Given the description of an element on the screen output the (x, y) to click on. 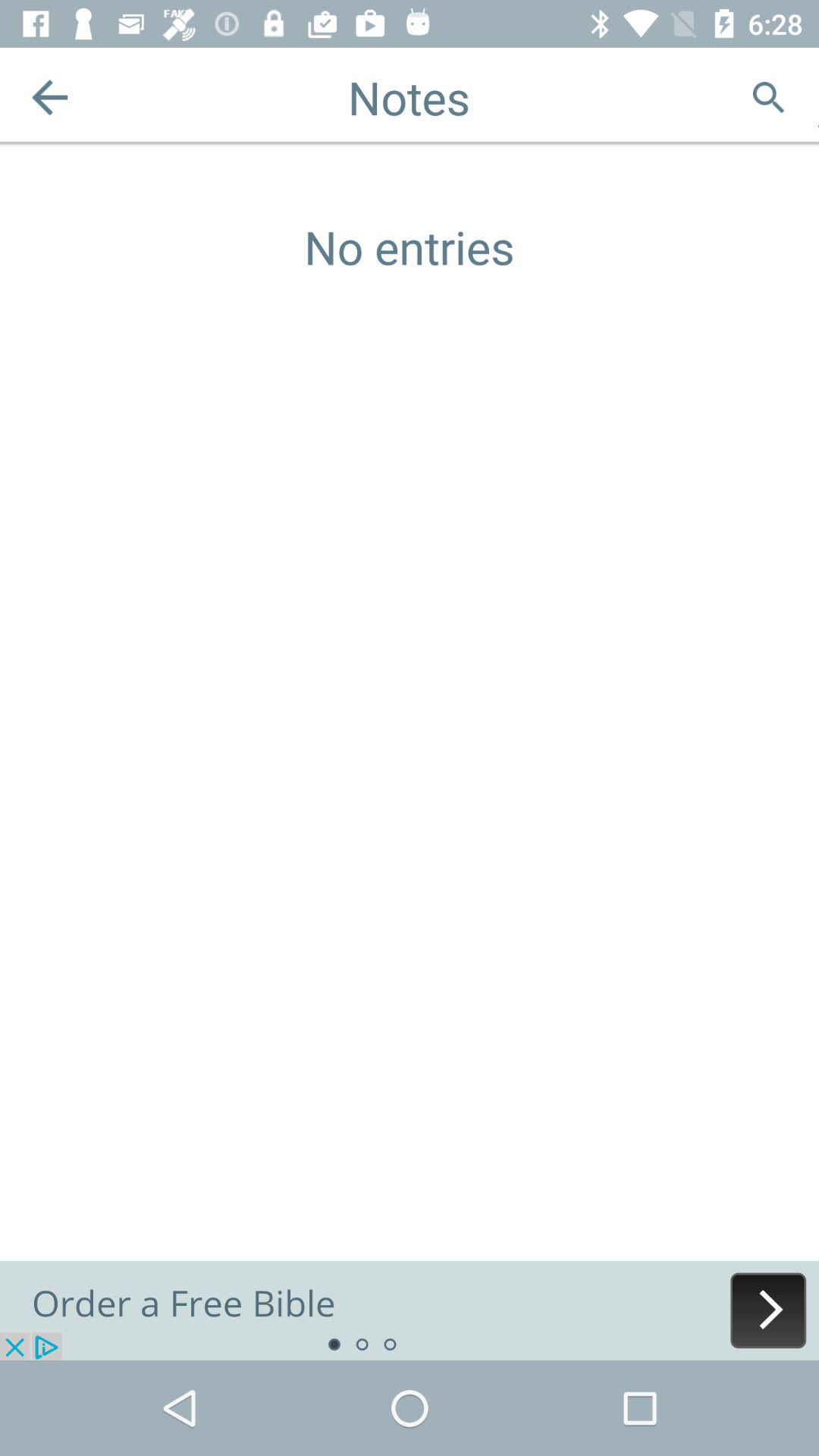
n ote pad writer (409, 1310)
